Given the description of an element on the screen output the (x, y) to click on. 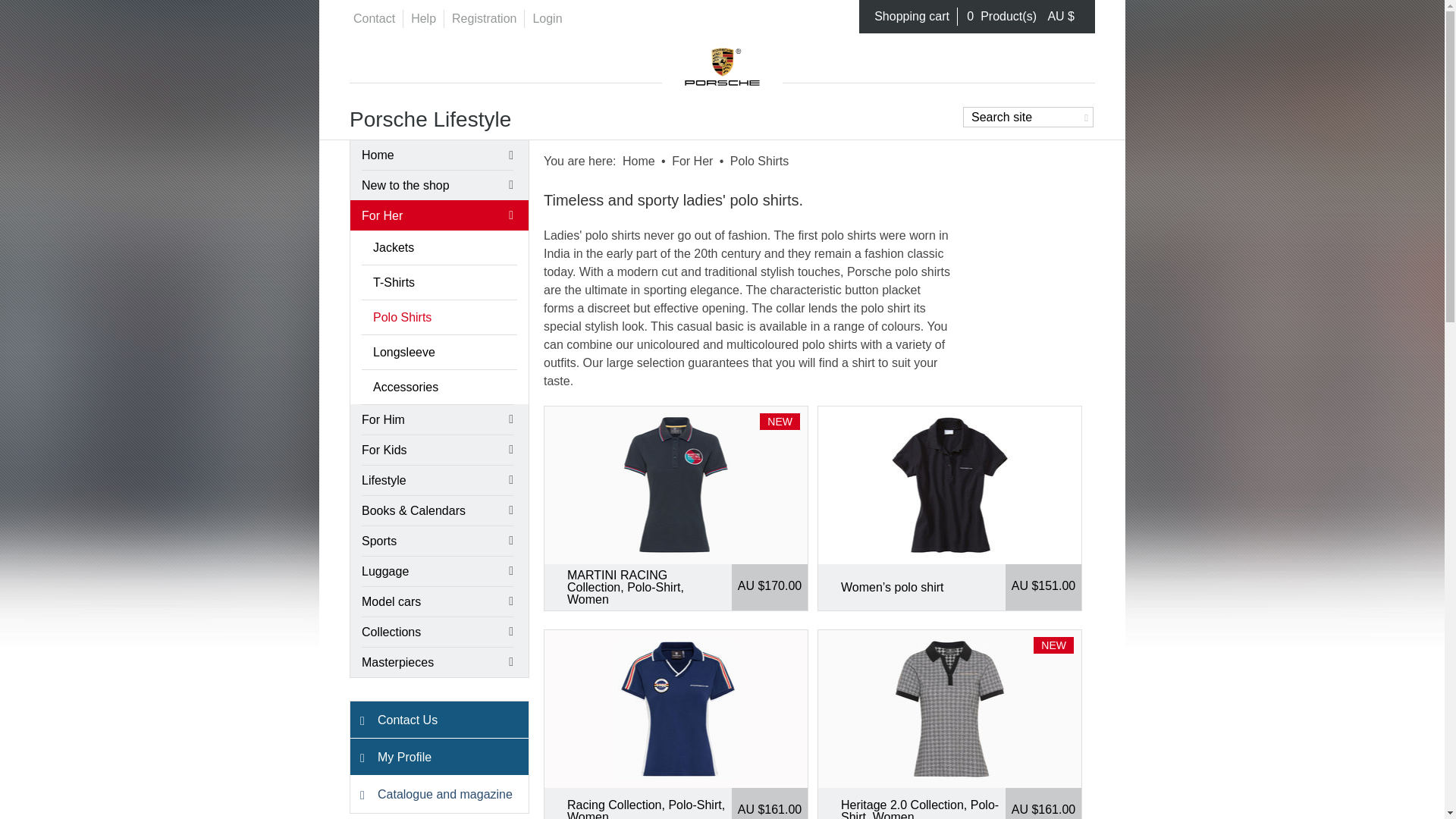
Polo Shirts (438, 316)
New to the shop (437, 184)
Jackets (438, 247)
For Him (437, 419)
Help (422, 18)
submit (1084, 114)
T-Shirts (438, 281)
For Her (692, 160)
Longsleeve (438, 351)
Contact (373, 18)
For Kids (437, 449)
Home (721, 61)
Search site (1027, 117)
Home (639, 160)
Home (437, 154)
